Given the description of an element on the screen output the (x, y) to click on. 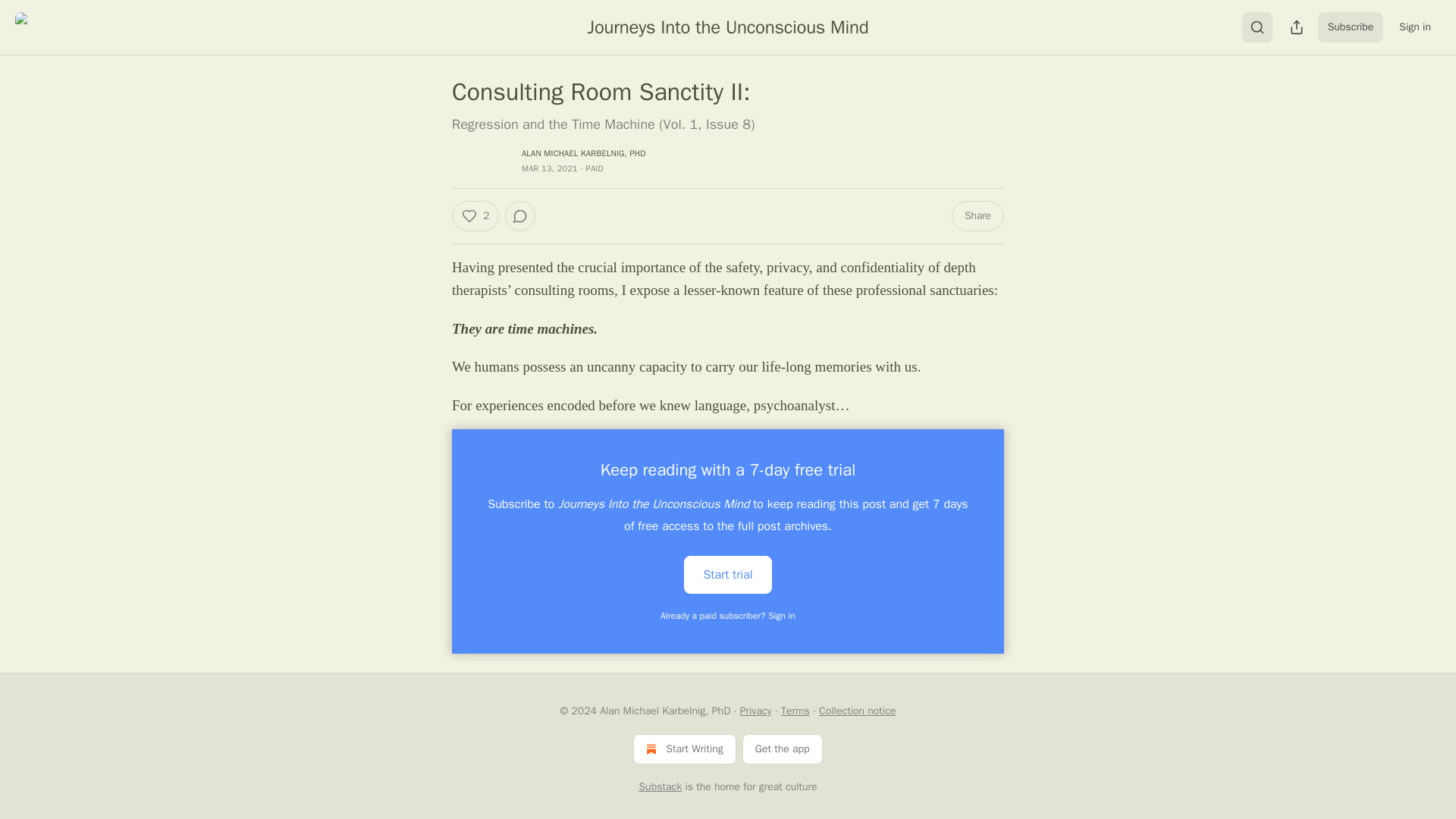
Share (978, 215)
Get the app (782, 748)
Already a paid subscriber? Sign in (727, 615)
Start trial (727, 574)
Sign in (1415, 27)
Subscribe (1350, 27)
Start trial (727, 574)
Substack (660, 786)
Collection notice (856, 710)
Terms (794, 710)
Journeys Into the Unconscious Mind (728, 26)
ALAN MICHAEL KARBELNIG, PHD (583, 153)
Start Writing (684, 748)
2 (475, 215)
Privacy (755, 710)
